Given the description of an element on the screen output the (x, y) to click on. 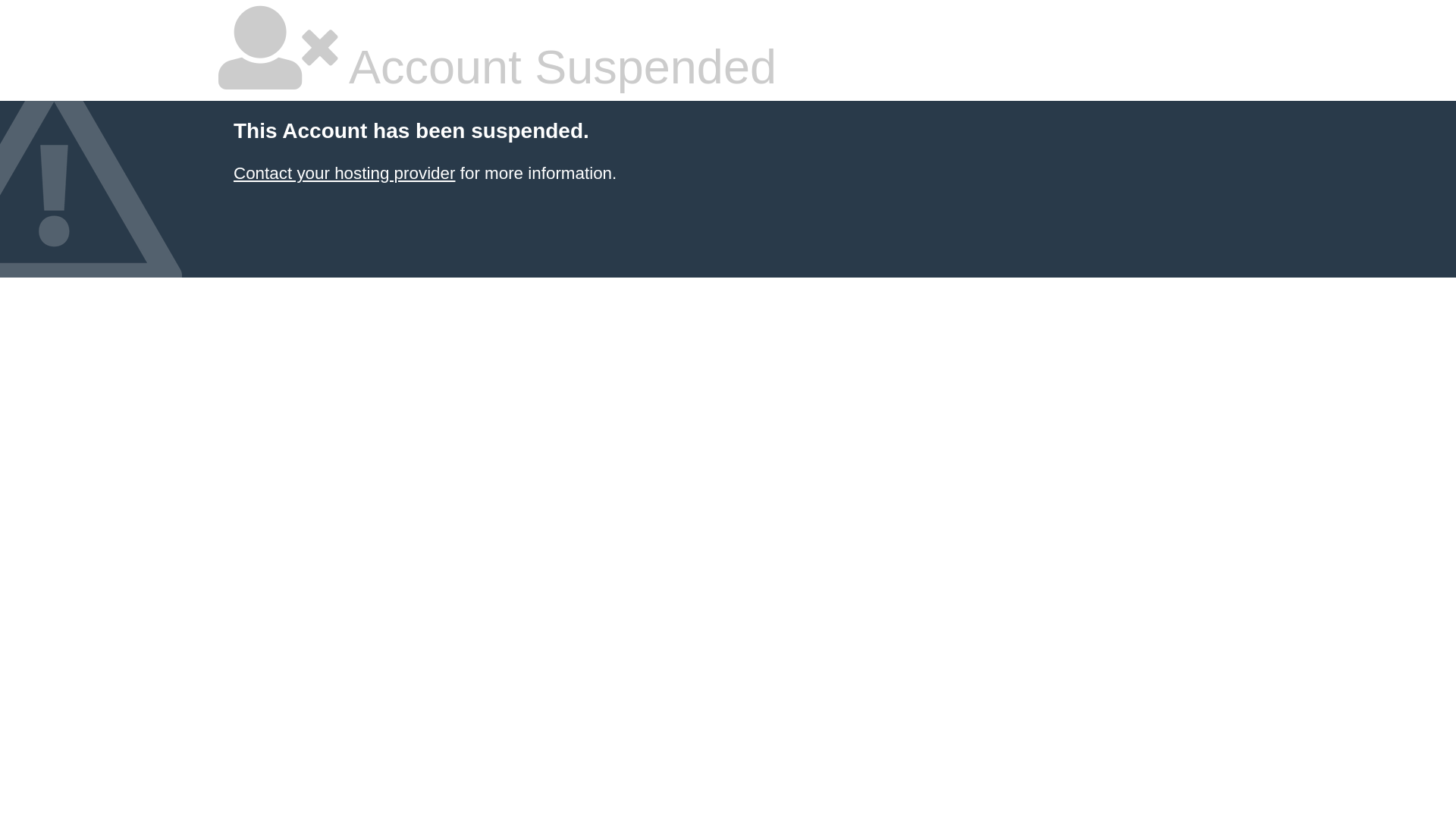
Contact your hosting provider Element type: text (344, 172)
